Given the description of an element on the screen output the (x, y) to click on. 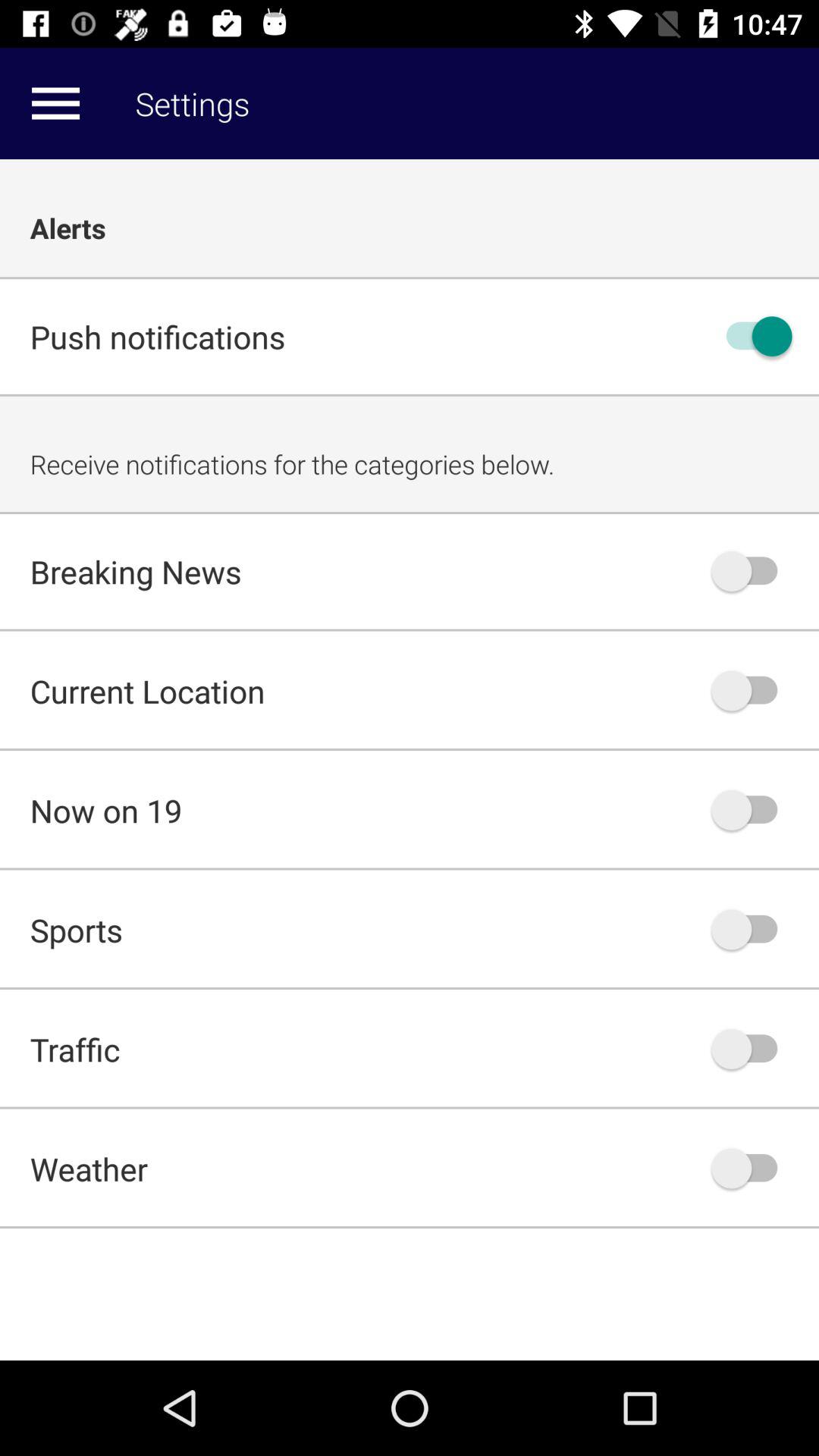
sports notification (751, 929)
